Given the description of an element on the screen output the (x, y) to click on. 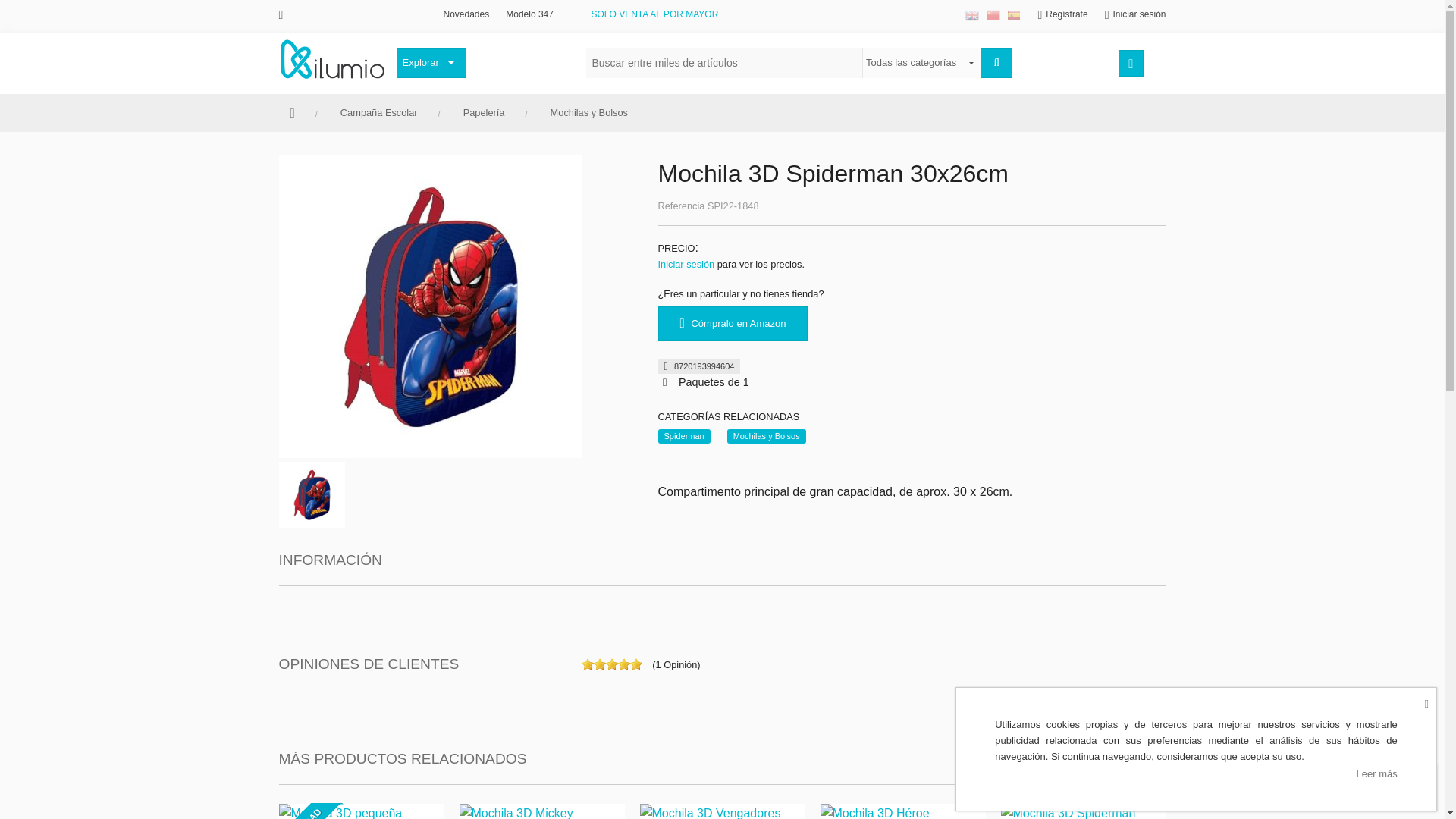
Novedades (465, 14)
Modelo 347 (529, 14)
Kilumio (332, 58)
English (971, 15)
Explorar (430, 62)
